Given the description of an element on the screen output the (x, y) to click on. 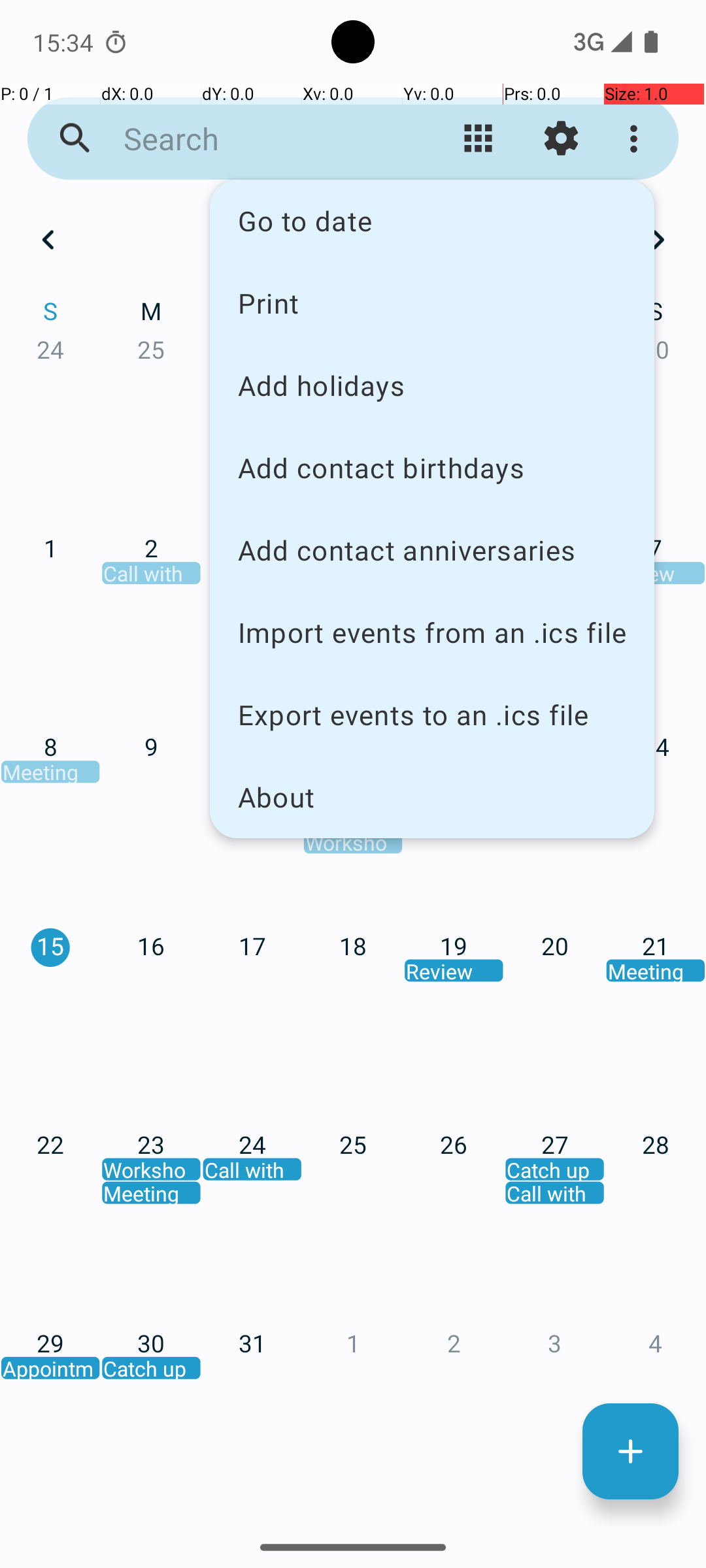
Go to date Element type: android.widget.TextView (431, 220)
Print Element type: android.widget.TextView (431, 302)
Add holidays Element type: android.widget.TextView (431, 384)
Add contact birthdays Element type: android.widget.TextView (431, 467)
Add contact anniversaries Element type: android.widget.TextView (431, 549)
Import events from an .ics file Element type: android.widget.TextView (431, 631)
Export events to an .ics file Element type: android.widget.TextView (431, 714)
